Given the description of an element on the screen output the (x, y) to click on. 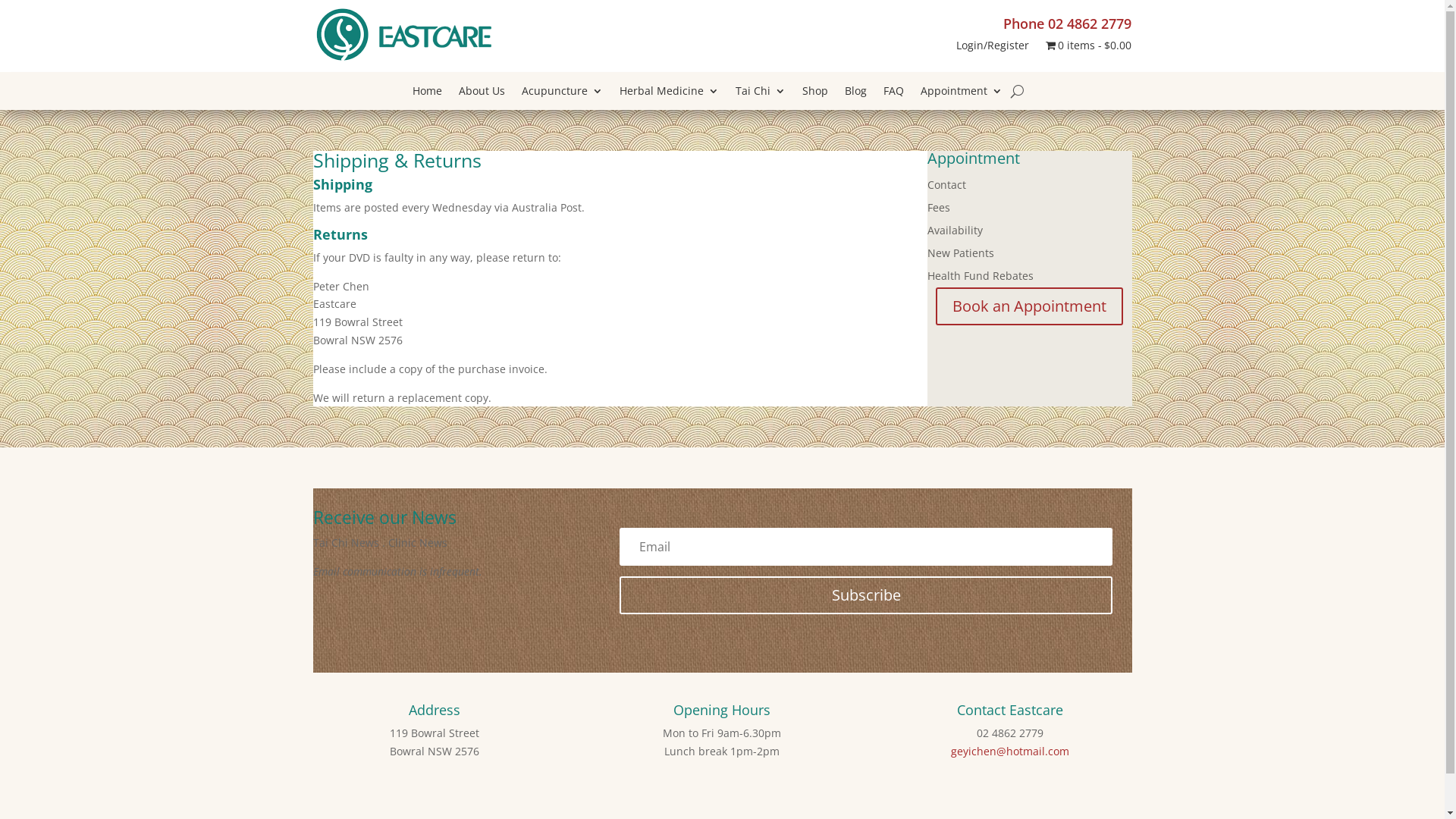
Herbal Medicine Element type: text (668, 93)
Tai Chi Element type: text (760, 93)
Health Fund Rebates Element type: text (979, 278)
New Patients Element type: text (959, 255)
Blog Element type: text (855, 93)
Login/Register Element type: text (992, 48)
Fees Element type: text (937, 210)
logo Element type: hover (407, 35)
Home Element type: text (427, 93)
Availability Element type: text (954, 233)
0 items$0.00 Element type: text (1088, 48)
Contact Element type: text (945, 187)
Appointment Element type: text (961, 93)
Book an Appointment Element type: text (1029, 306)
Subscribe Element type: text (865, 595)
Acupuncture Element type: text (561, 93)
Shop Element type: text (815, 93)
geyichen@hotmail.com Element type: text (1009, 750)
About Us Element type: text (481, 93)
FAQ Element type: text (893, 93)
